Given the description of an element on the screen output the (x, y) to click on. 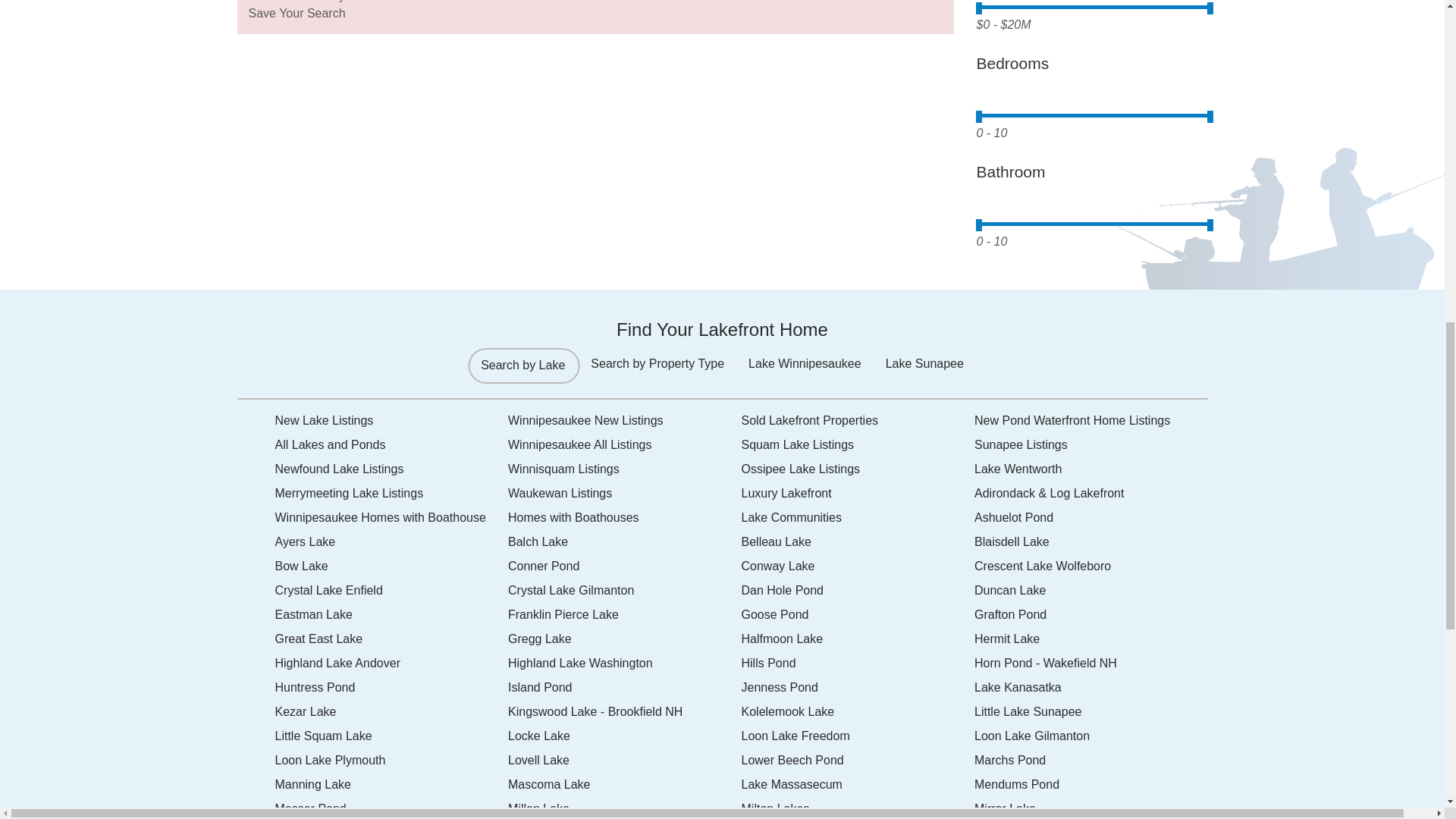
Lake Sunapee Real Estate  (1091, 444)
NH Sold Lakefront Properties  (858, 420)
Squam Lake Waterfront Real Estate  (858, 444)
Newfound Lake Real Estate  (391, 469)
NH Lakes and Pond Property for Sale - All  (391, 444)
New Winnipesaukee Waterfront Listing  (624, 420)
Lake Winnisquam Real Estate  (624, 469)
Explore new waterfront Homes in NH (391, 420)
Newly Listed Pond Front Homes in NH (1091, 420)
Lake Winnipesaukee Real Estate  (624, 444)
